Given the description of an element on the screen output the (x, y) to click on. 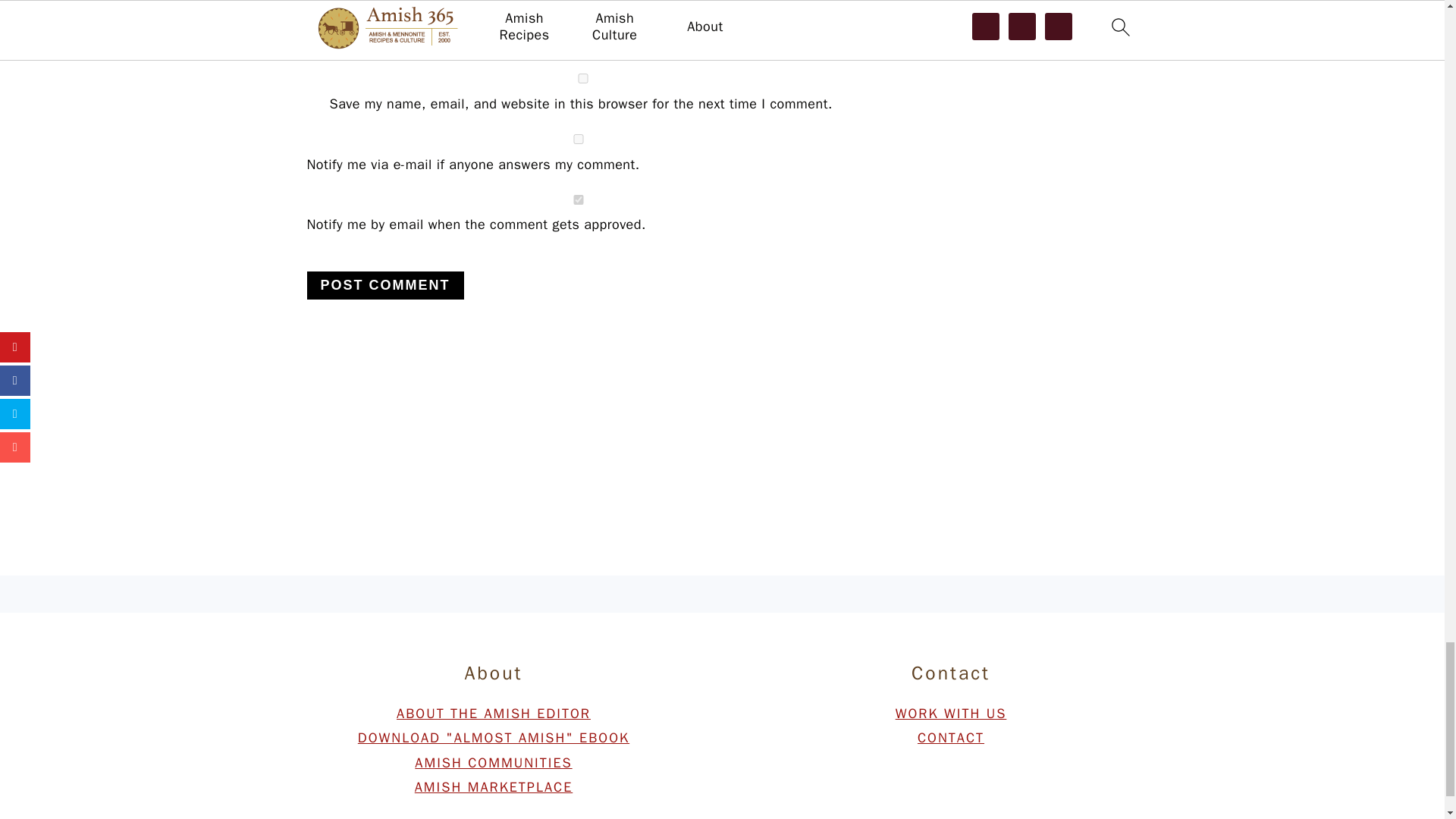
on (576, 139)
Post Comment (384, 285)
1 (576, 199)
yes (582, 78)
